Given the description of an element on the screen output the (x, y) to click on. 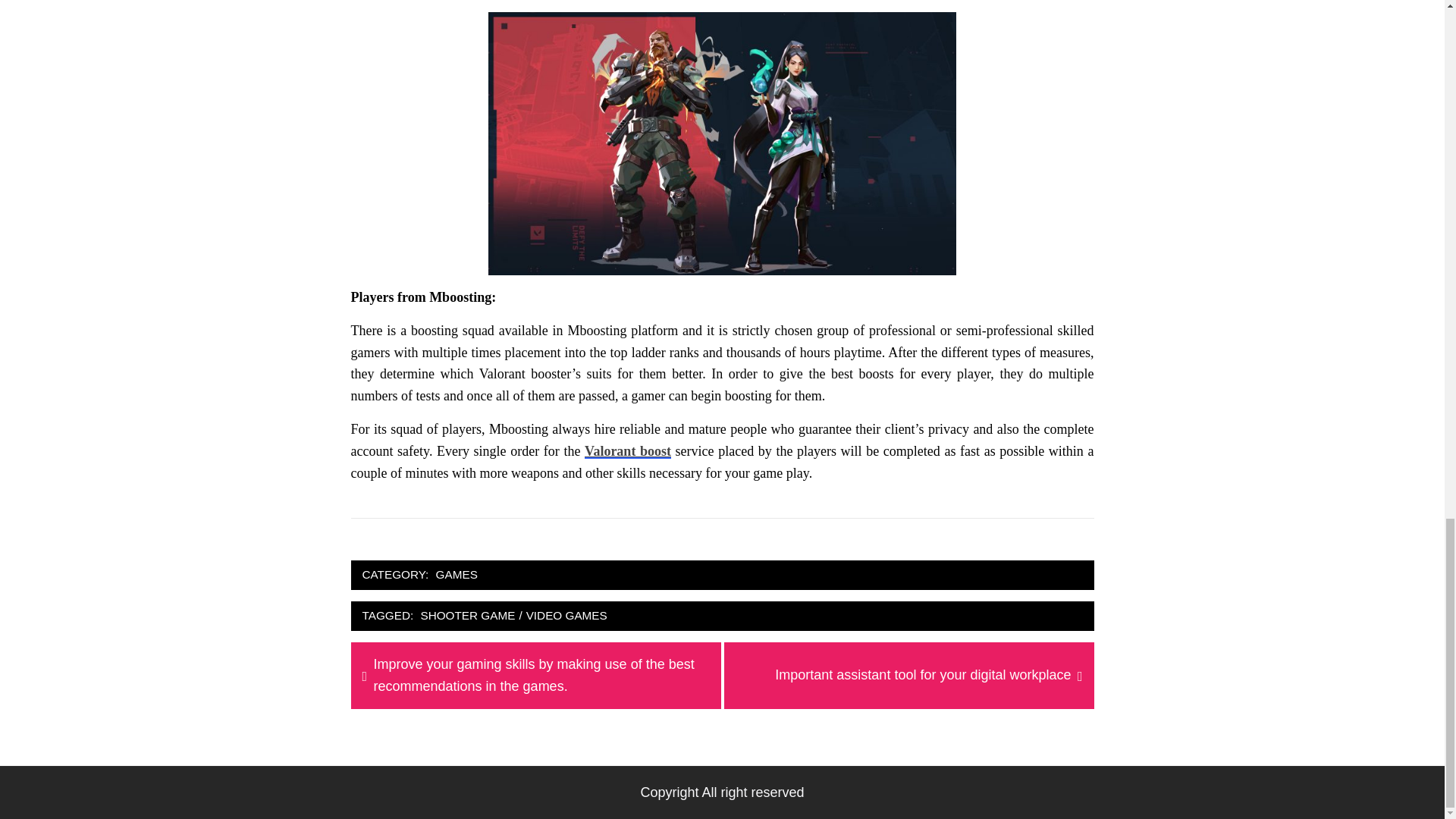
VIDEO GAMES (566, 616)
SHOOTER GAME (467, 616)
GAMES (456, 575)
Valorant boost (628, 450)
